Given the description of an element on the screen output the (x, y) to click on. 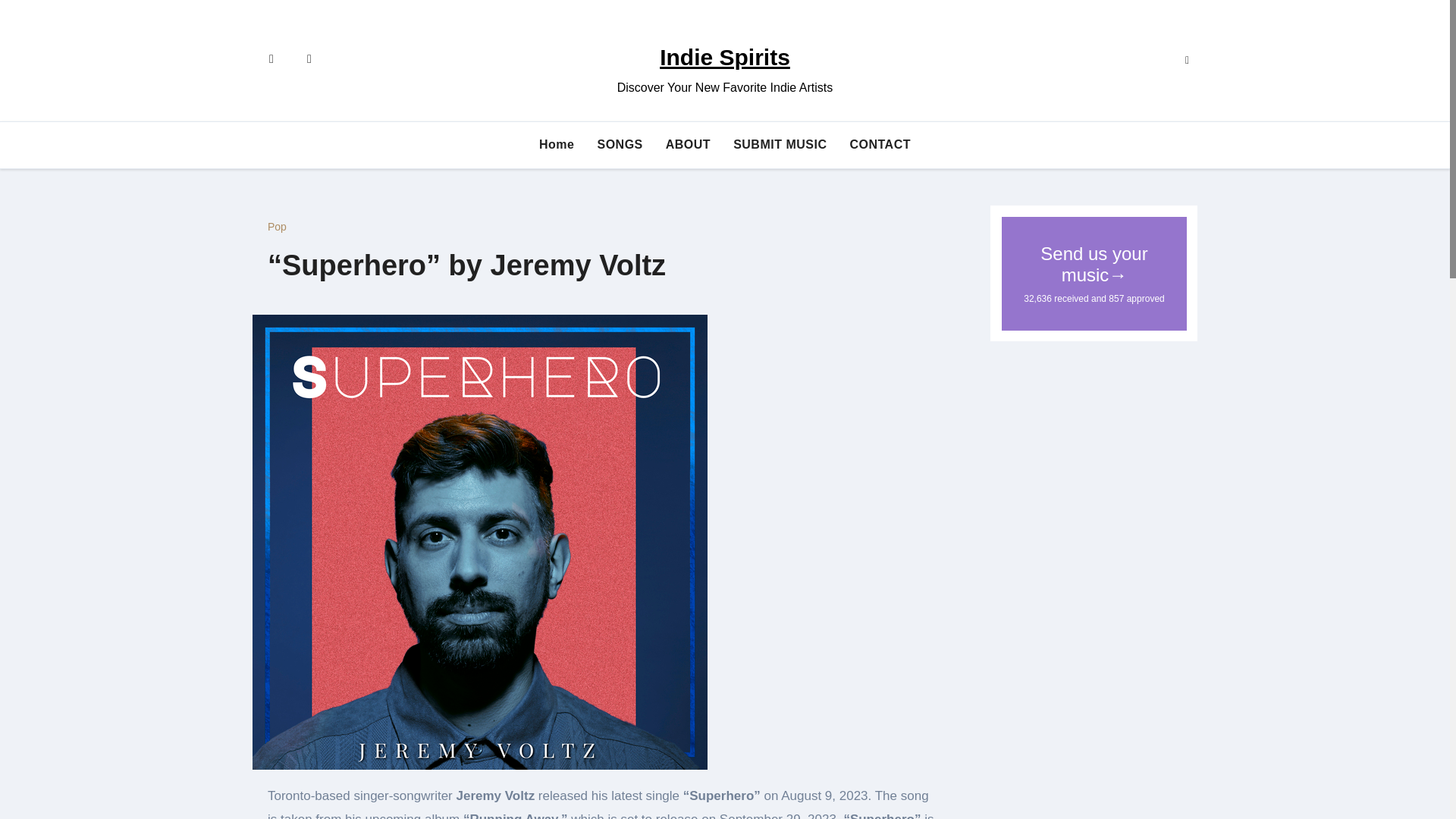
Pop (276, 226)
CONTACT (879, 144)
SUBMIT MUSIC (780, 144)
CONTACT (879, 144)
Home (556, 144)
SONGS (619, 144)
SUBMIT MUSIC (780, 144)
Home (556, 144)
Indie Spirits (724, 57)
SONGS (619, 144)
ABOUT (687, 144)
ABOUT (687, 144)
